Given the description of an element on the screen output the (x, y) to click on. 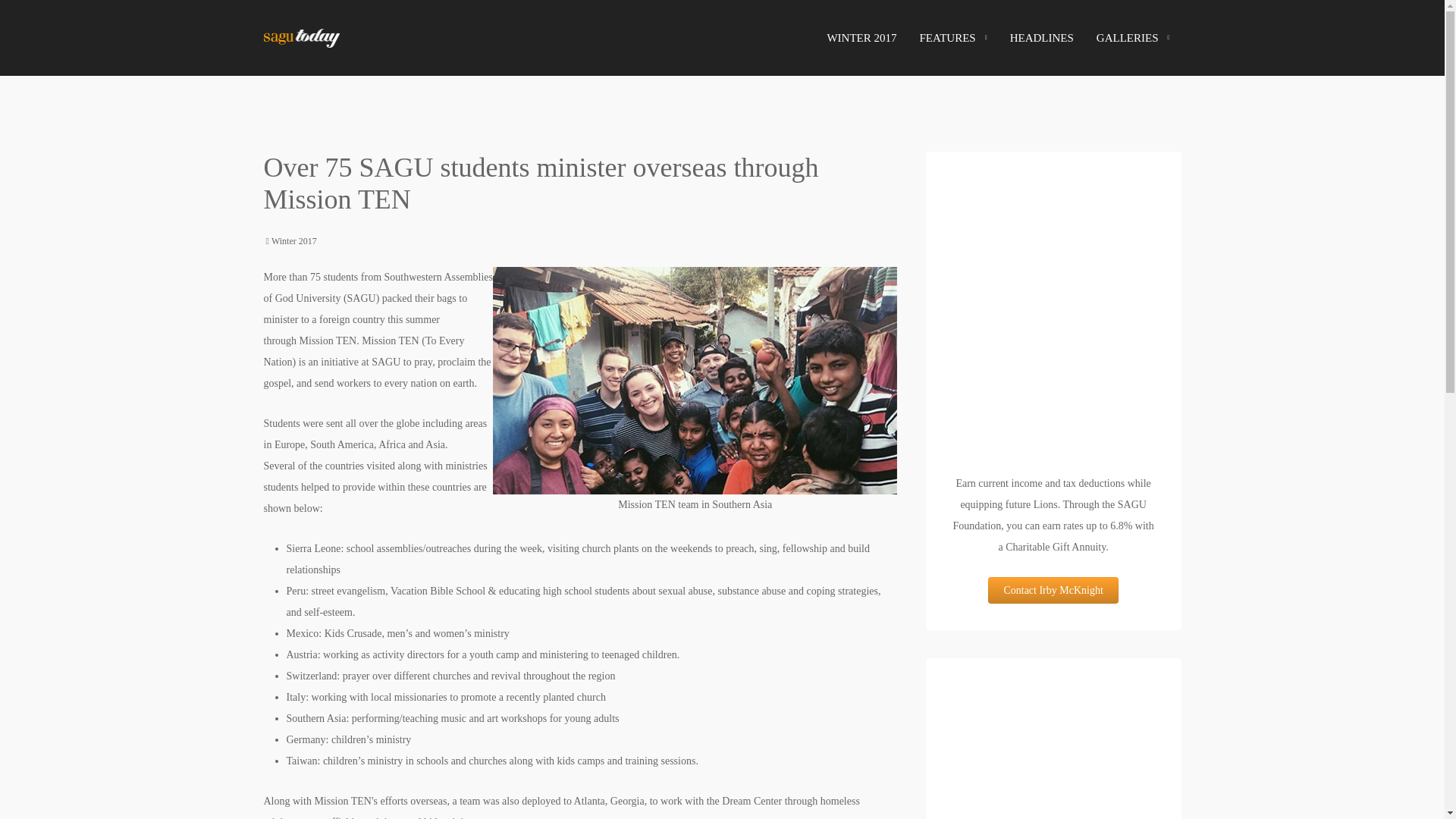
HEADLINES (1041, 38)
Winter 2017 (293, 241)
WINTER 2017 (861, 38)
Mission TEN team in Southern Asia (694, 380)
FEATURES (952, 38)
GO TO HOME PAGE (301, 37)
Category:  (286, 241)
Over 75 SAGU students minister overseas through Mission TEN (540, 183)
Contact Irby McKnight (1053, 590)
GALLERIES (1132, 38)
